Given the description of an element on the screen output the (x, y) to click on. 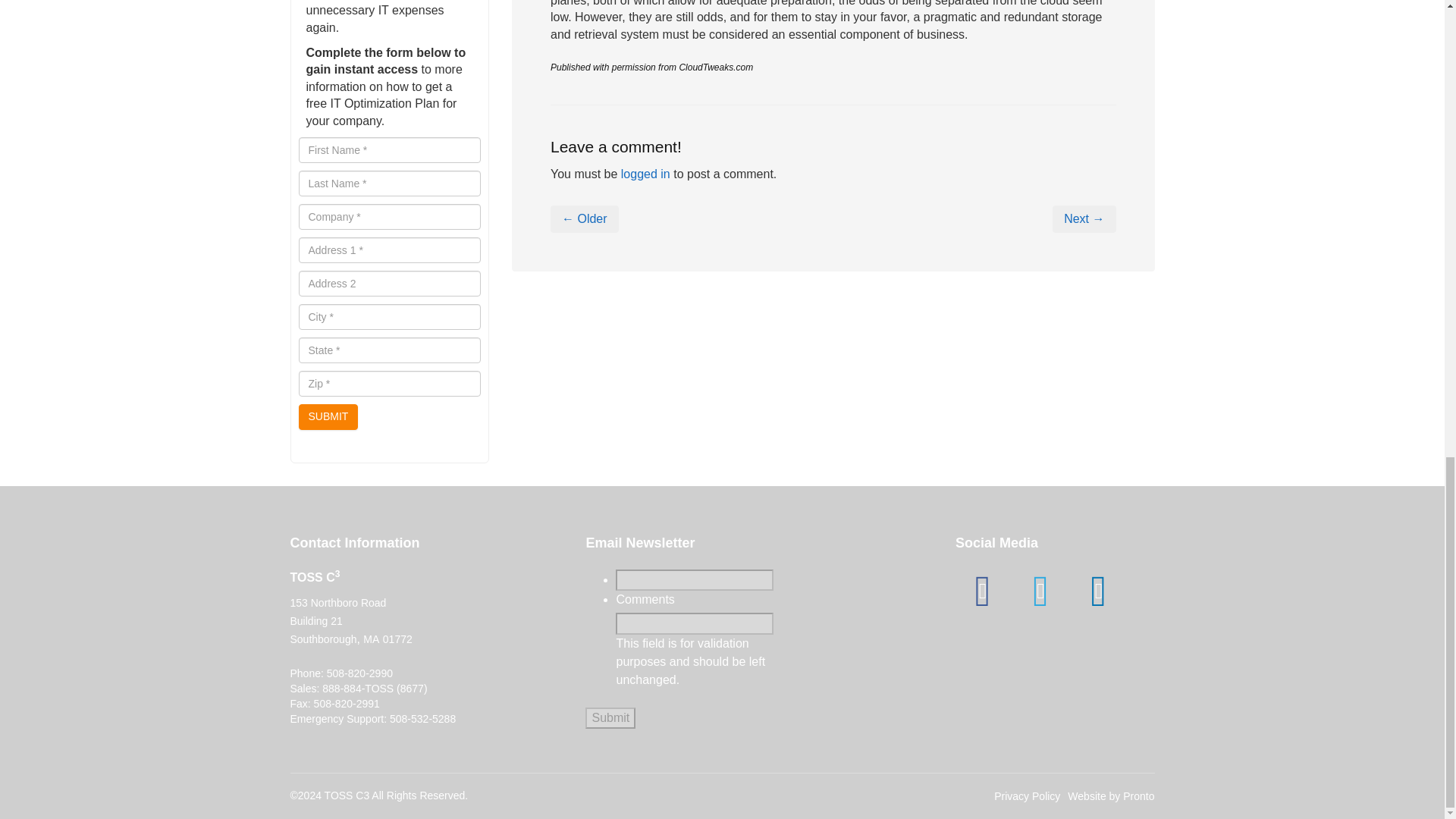
Website by Pronto (1110, 796)
SUBMIT (328, 416)
Submit (609, 718)
Submit (609, 718)
Privacy Policy (1026, 796)
logged in (645, 173)
